Given the description of an element on the screen output the (x, y) to click on. 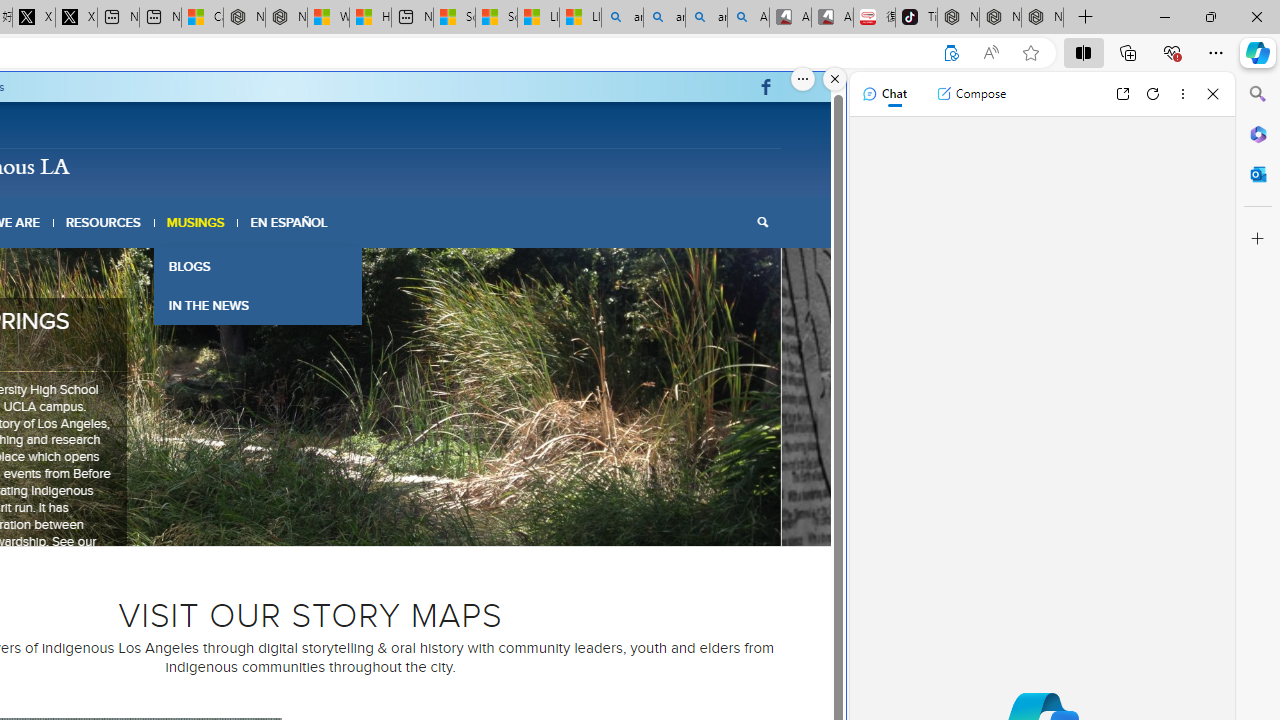
Wildlife - MSN (328, 17)
Chat (884, 93)
1 (254, 520)
RESOURCES (102, 222)
TikTok (916, 17)
Customize (1258, 239)
More options (1182, 93)
